Given the description of an element on the screen output the (x, y) to click on. 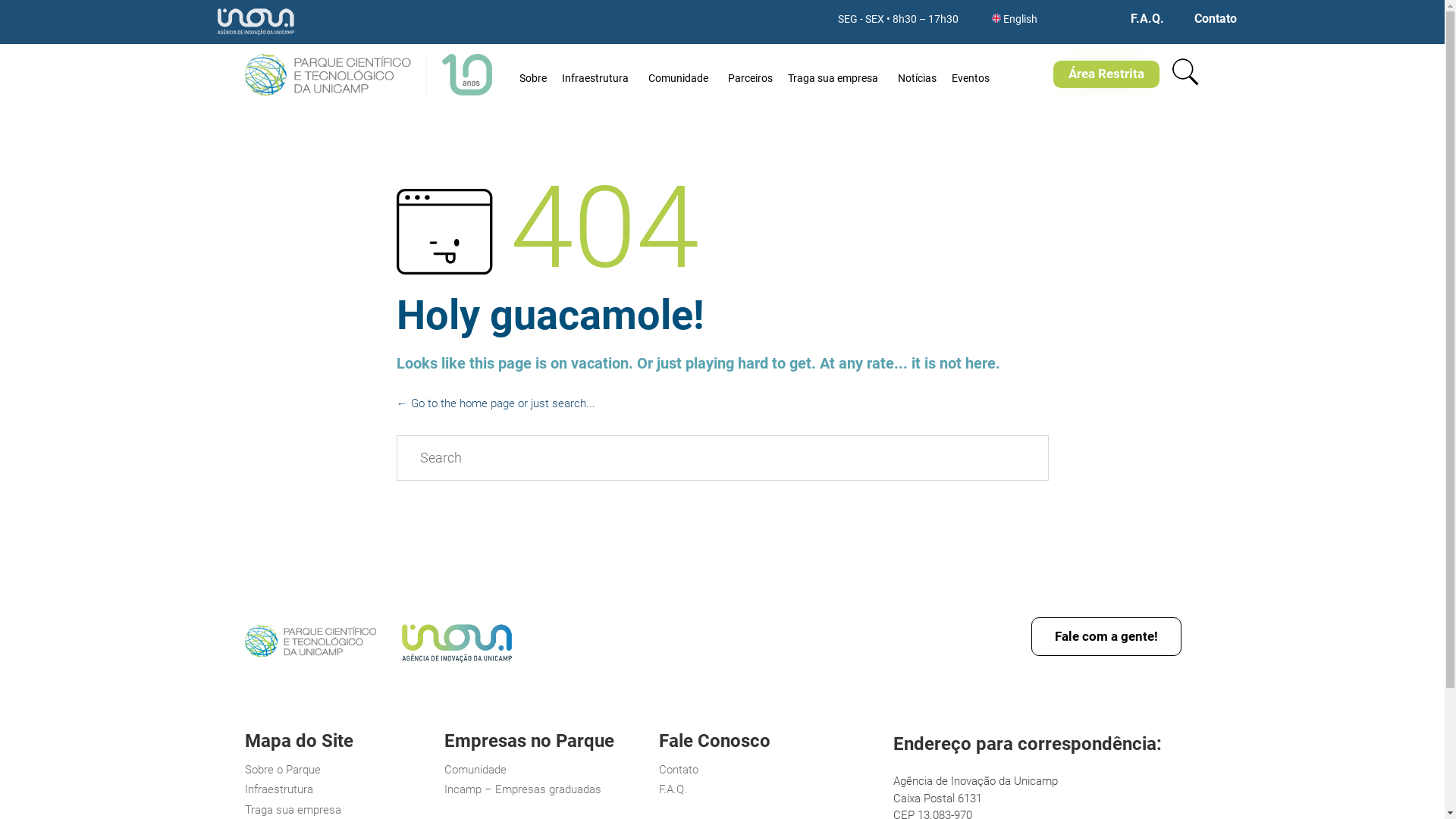
INV_marca_2019_mono-negativa Element type: hover (255, 36)
parque-cientifico-e-tecnologico-unicamp-sao-paulo-brasil Element type: hover (309, 652)
F.A.Q. Element type: text (772, 789)
Contato Element type: text (1215, 18)
Sobre o Parque Element type: text (340, 769)
parque-cientifico-e-tecnologico-unicamp-sao-paulo-brasil Element type: hover (309, 640)
Eventos Element type: text (970, 73)
Fale com a gente! Element type: text (1106, 636)
INV_marca_2019_cor-positiva Element type: hover (456, 665)
Parceiros Element type: text (750, 73)
English Element type: text (1020, 18)
Infraestrutura Element type: text (597, 73)
Comunidade Element type: text (543, 769)
Traga sua empresa Element type: text (835, 73)
Contato Element type: text (772, 769)
Search Element type: text (998, 457)
Sobre Element type: text (532, 73)
INV_marca_2019_mono-negativa Element type: hover (255, 21)
F.A.Q. Element type: text (1147, 18)
Skip to content Element type: text (1028, 43)
Comunidade Element type: text (680, 73)
INV_marca_2019_cor-positiva Element type: hover (456, 643)
Infraestrutura Element type: text (340, 789)
